Given the description of an element on the screen output the (x, y) to click on. 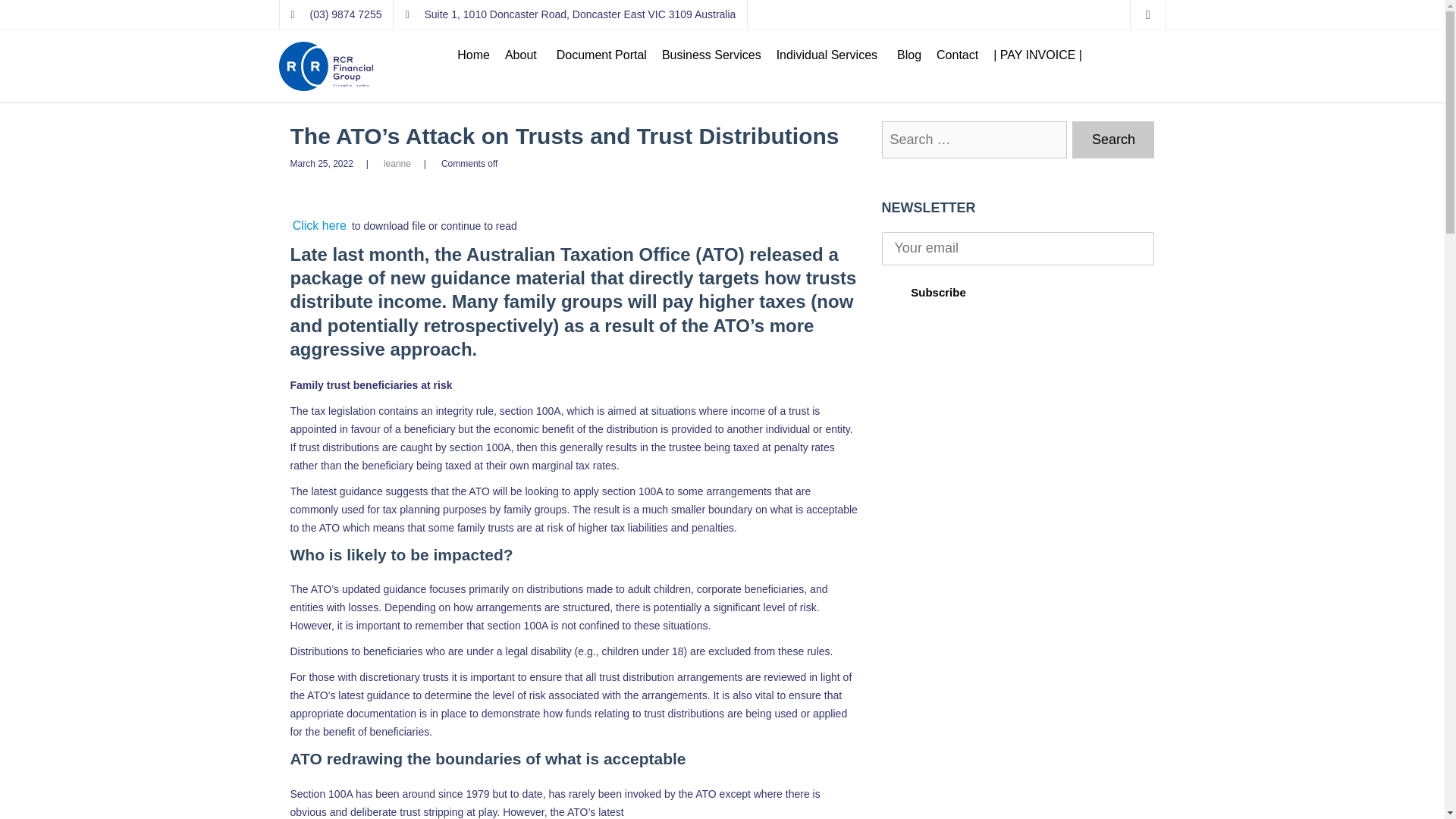
Business Services (710, 55)
Home (473, 55)
Search (1112, 139)
Document Portal (600, 55)
About (522, 55)
Individual Services (828, 55)
Subscribe (937, 291)
Search (1112, 139)
